Given the description of an element on the screen output the (x, y) to click on. 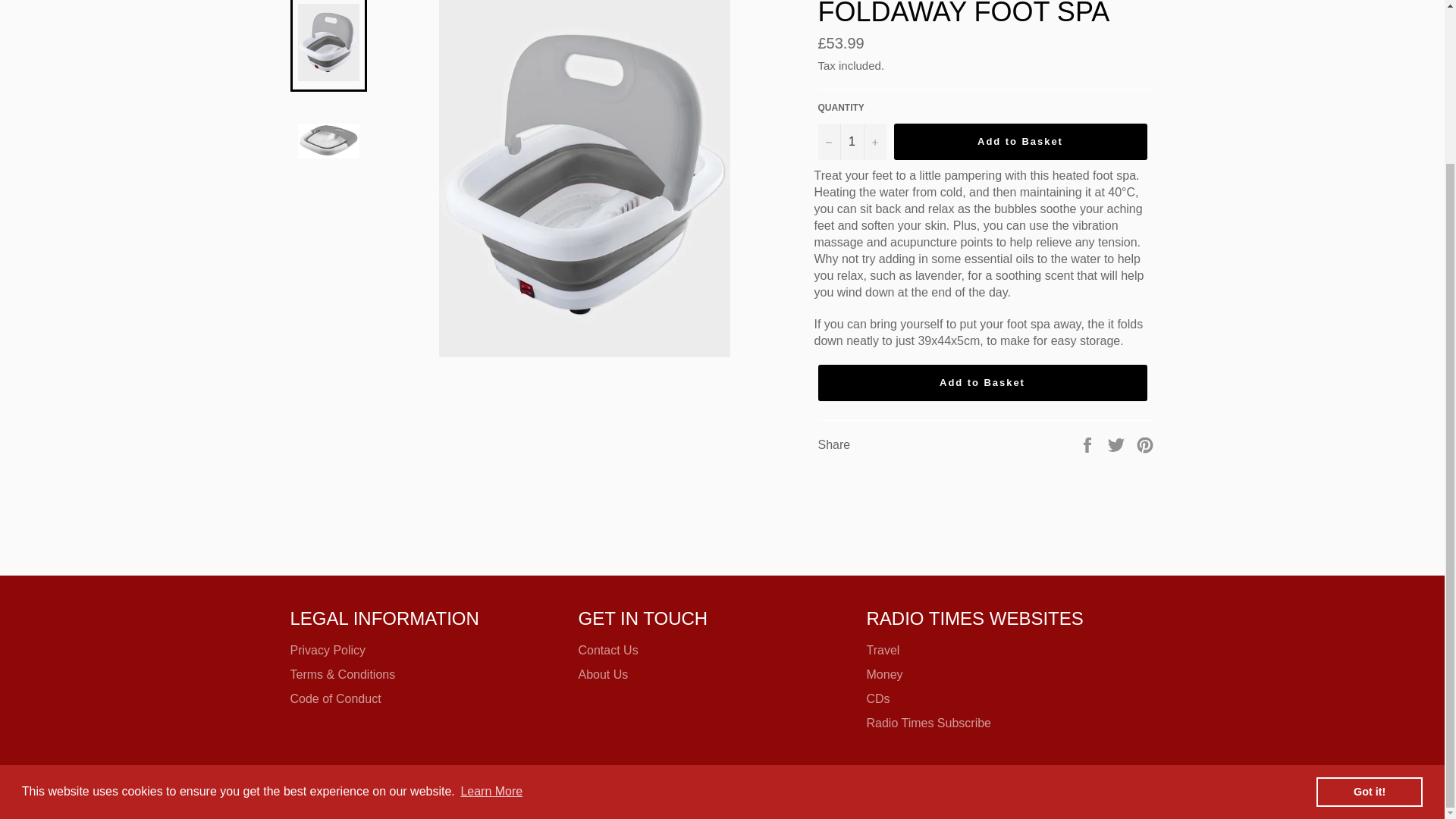
Pin on Pinterest (1144, 444)
1 (850, 141)
Got it! (1369, 598)
Tweet on Twitter (1117, 444)
Share on Facebook (1088, 444)
Learn More (491, 598)
